Given the description of an element on the screen output the (x, y) to click on. 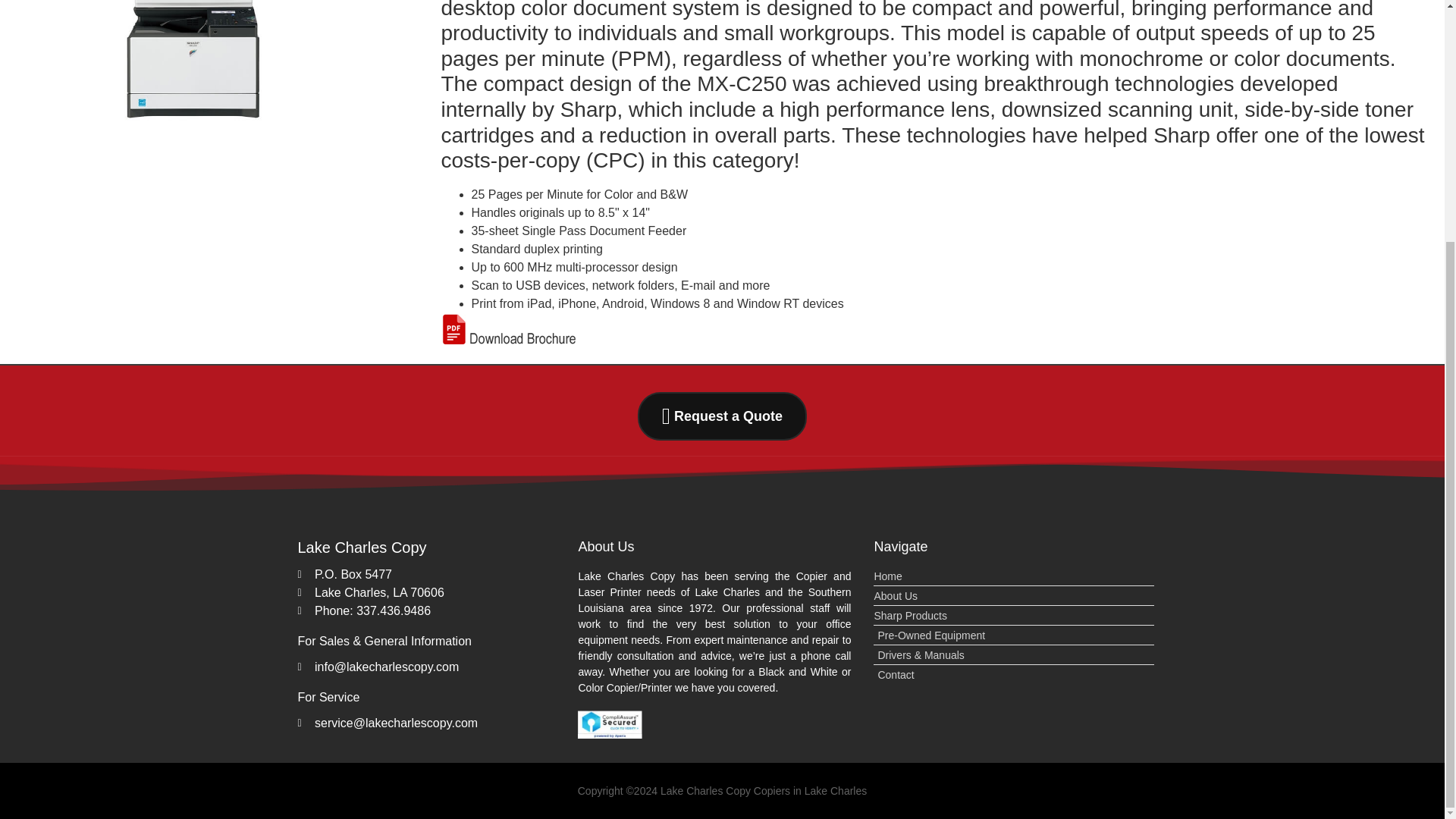
Home (1013, 576)
Phone: 337.436.9486 (433, 610)
Request a Quote (717, 416)
